Given the description of an element on the screen output the (x, y) to click on. 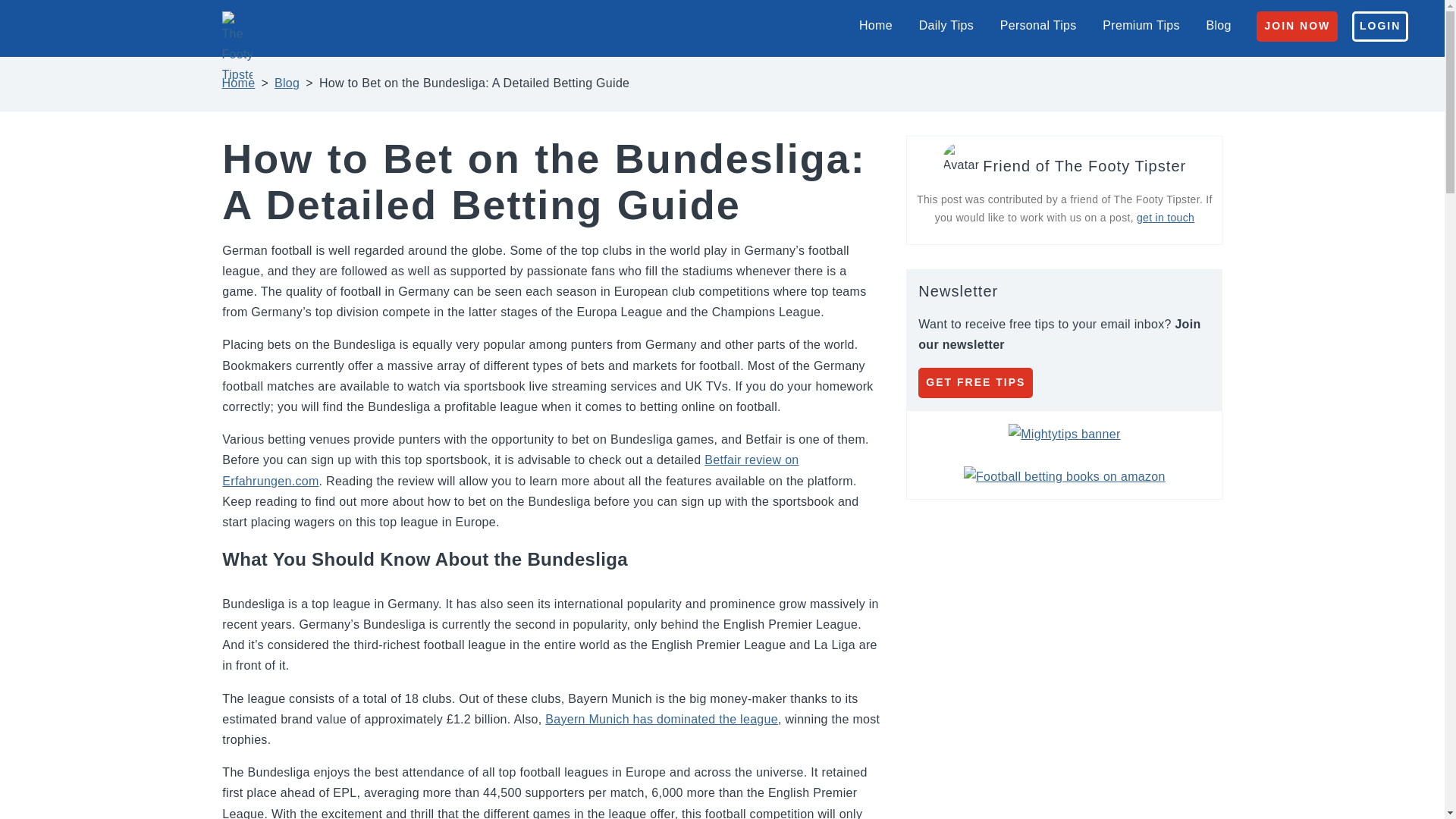
Blog (287, 82)
GET FREE TIPS (975, 382)
Home (875, 25)
Home (237, 82)
Premium Tips (1140, 25)
LOGIN (1379, 26)
JOIN NOW (1297, 26)
Personal Tips (1037, 25)
Gravatar for Friend of The Footy Tipster (960, 160)
Blog (1219, 25)
